Given the description of an element on the screen output the (x, y) to click on. 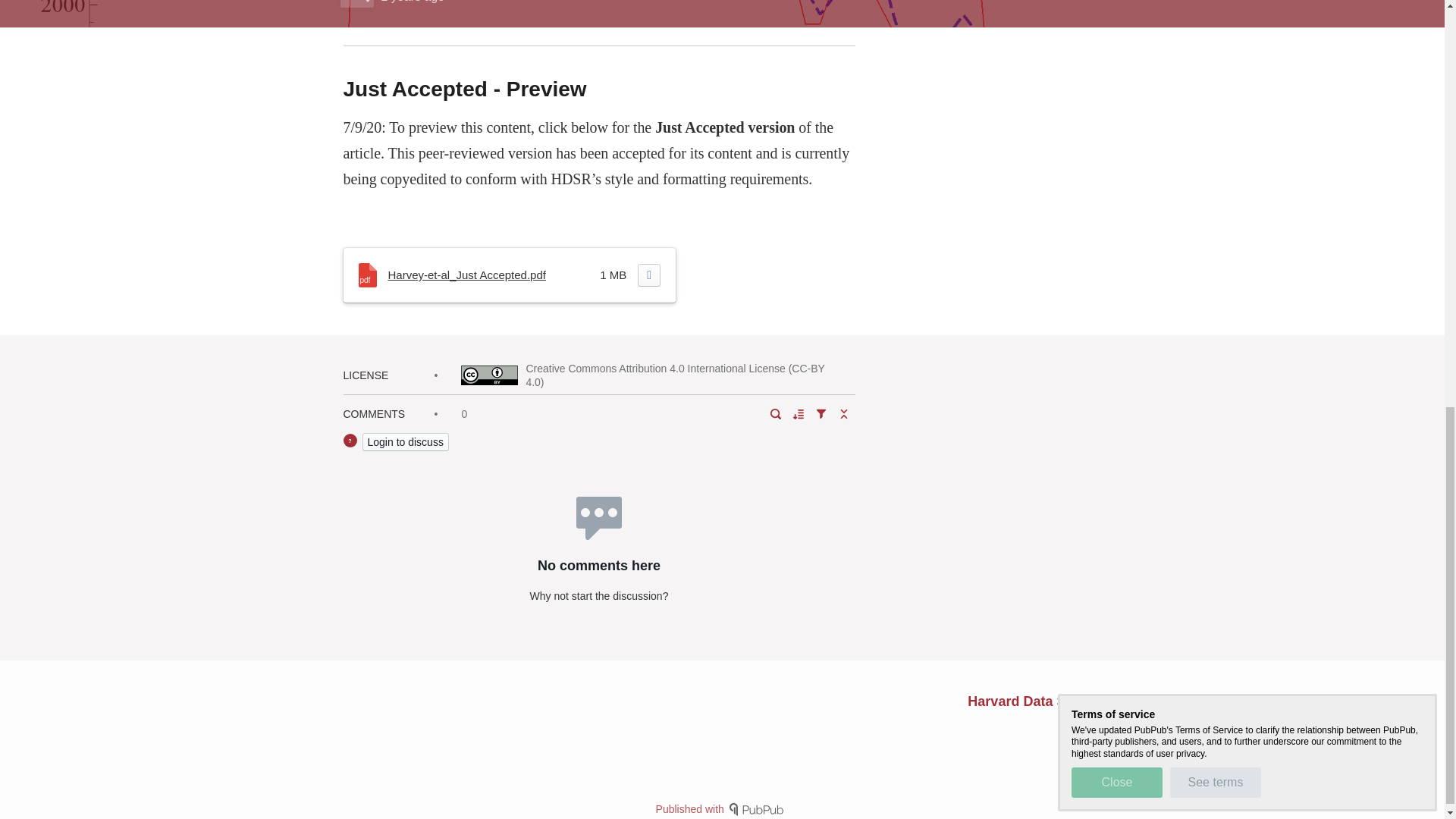
Harvard Data Science Review (1063, 701)
Legal (1145, 727)
RSS (1104, 727)
Login to discuss (405, 442)
